Given the description of an element on the screen output the (x, y) to click on. 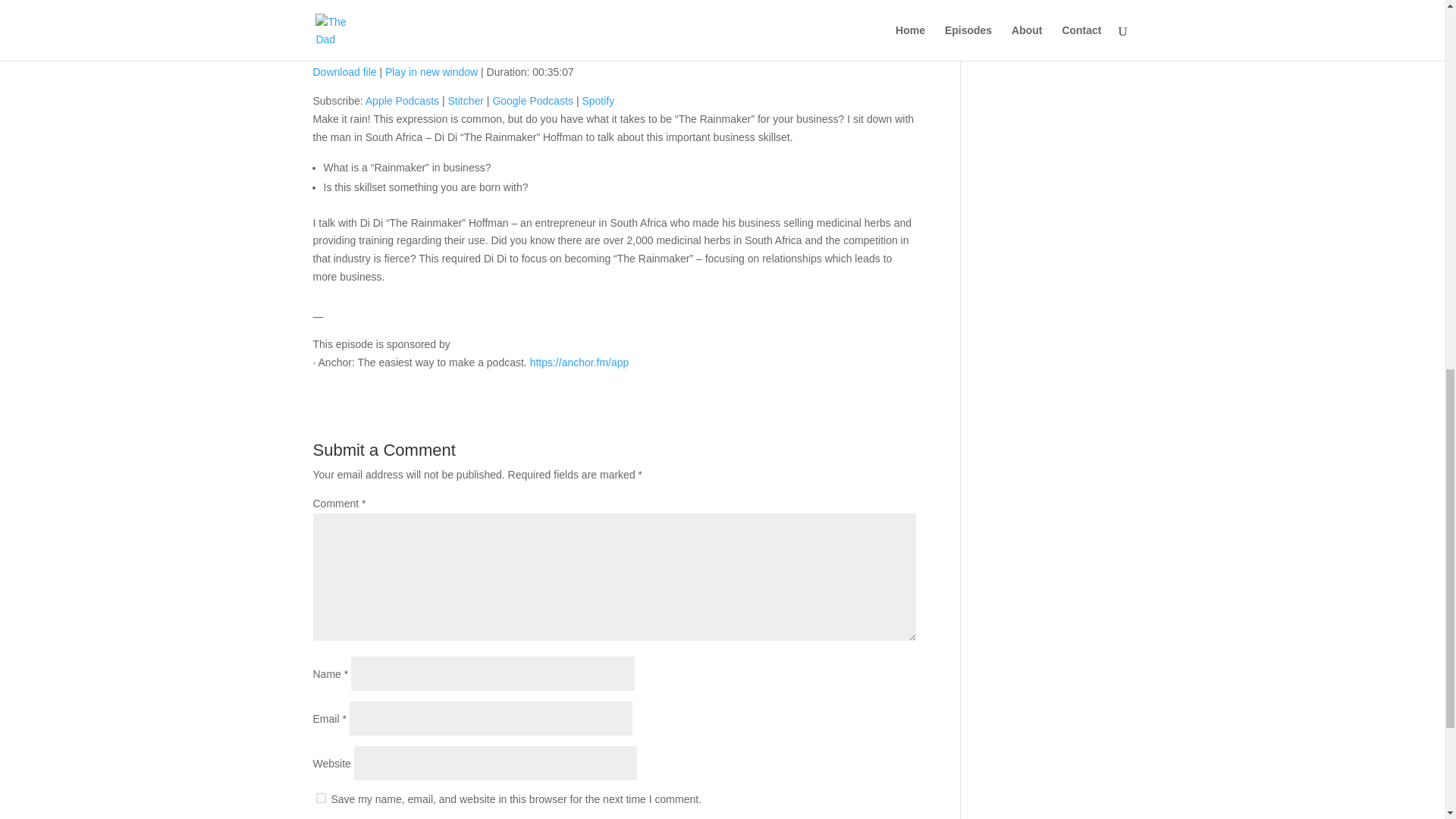
Google Podcasts (532, 101)
Download file (344, 71)
Spotify (597, 101)
Apple Podcasts (402, 101)
Stitcher (464, 101)
Play in new window (431, 71)
yes (319, 798)
